Given the description of an element on the screen output the (x, y) to click on. 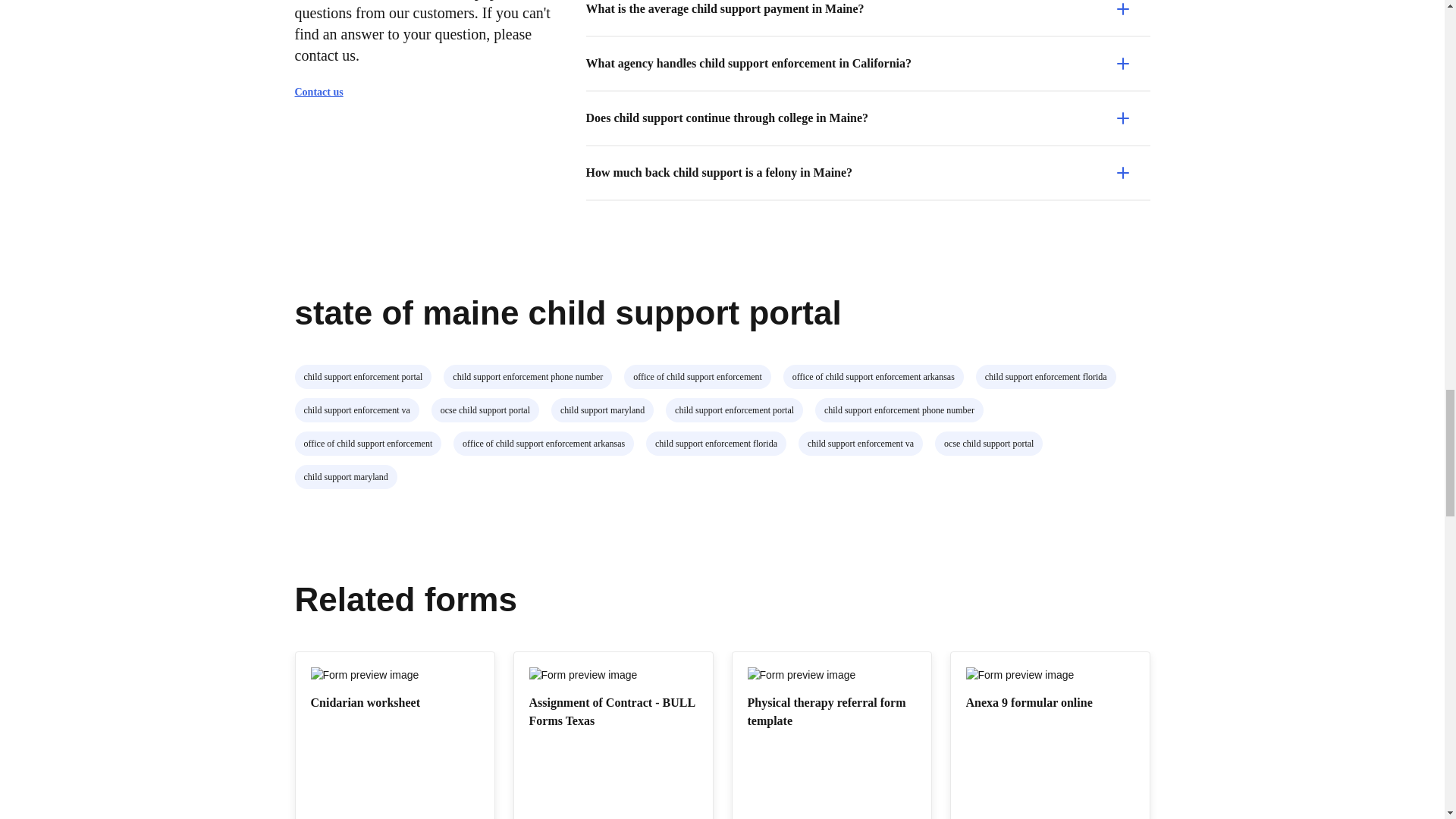
Contact us (325, 92)
